Given the description of an element on the screen output the (x, y) to click on. 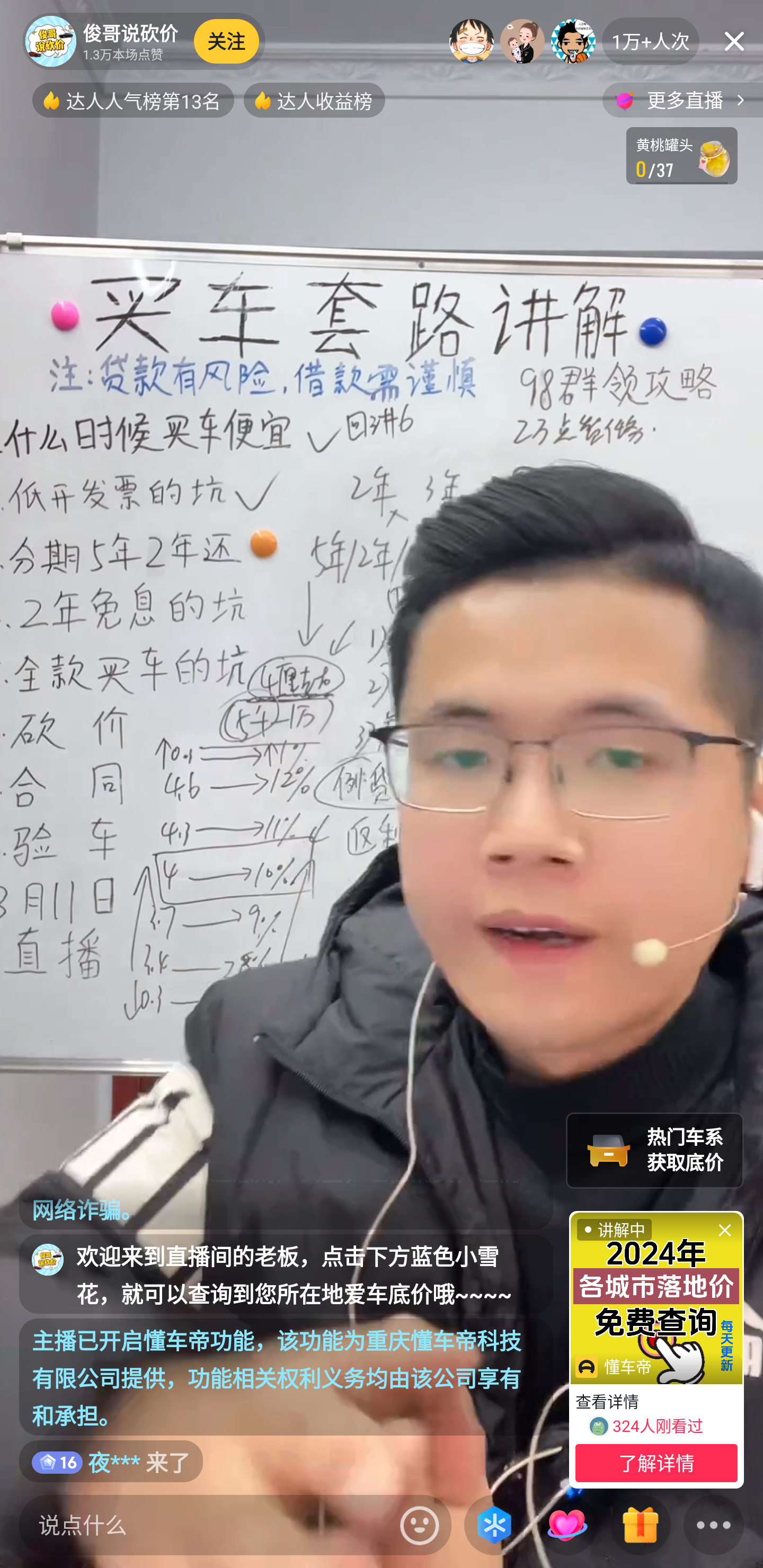
榜一 长*** 1音浪 (471, 41)
榜二 K*** 1音浪 (522, 41)
榜三 老*** 1音浪 (572, 41)
主播俊哥说砍价 1.3万本场点赞  俊哥说砍价 1.3万本场点赞 关注 (143, 41)
1万+人次 (650, 41)
关注 (226, 41)
关闭 (733, 41)
达人人气榜第13名，按钮 (133, 100)
达人收益榜，按钮 (314, 100)
更多直播 (682, 100)
心愿单- (681, 156)
热门车系 获取底价 (654, 1149)
讲解中 懂车帝 查看详情 324人刚看过 了解详情 (656, 1349)
主播已开启懂车帝功能，该功能为重庆懂车帝科技有限公司提供，功能相关权利义务均由该公司享有和承担。 (286, 1377)
* 云*** 来了 (110, 1460)
说点什么 (205, 1524)
表情入口 (419, 1524)
礼物 (640, 1526)
更多面板 按钮 (713, 1526)
小心心 (567, 1524)
